Given the description of an element on the screen output the (x, y) to click on. 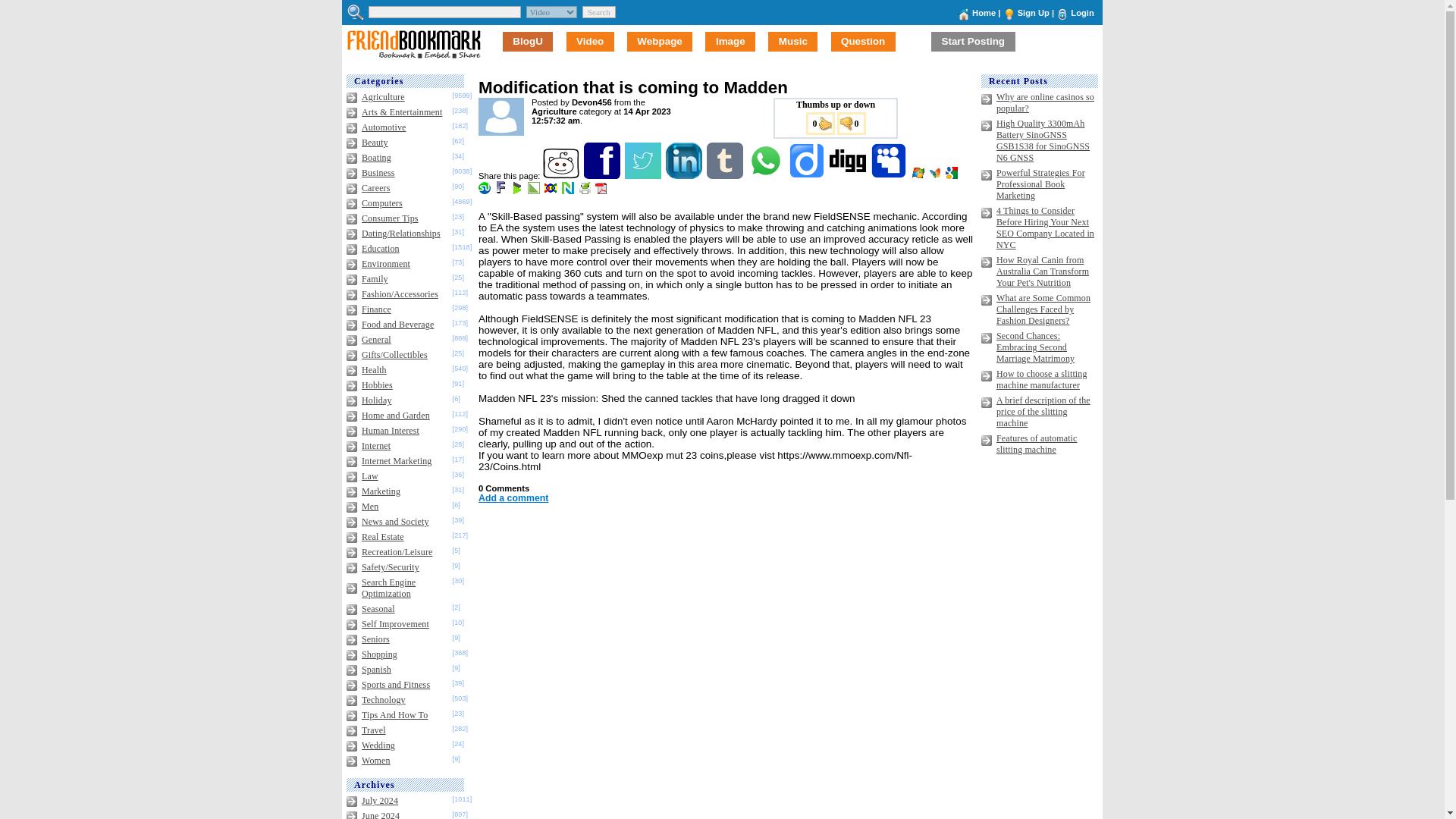
Thumbs up (819, 123)
Live (919, 175)
Thumbs Down (851, 123)
Sign Up (1033, 12)
Home (983, 12)
Twitter (643, 175)
blogmarks (518, 190)
Login (1081, 12)
StumbleUpon (486, 190)
Diigo (808, 175)
Reddit (561, 175)
Search (598, 11)
MySpace (889, 175)
digg (848, 175)
Google (951, 175)
